Given the description of an element on the screen output the (x, y) to click on. 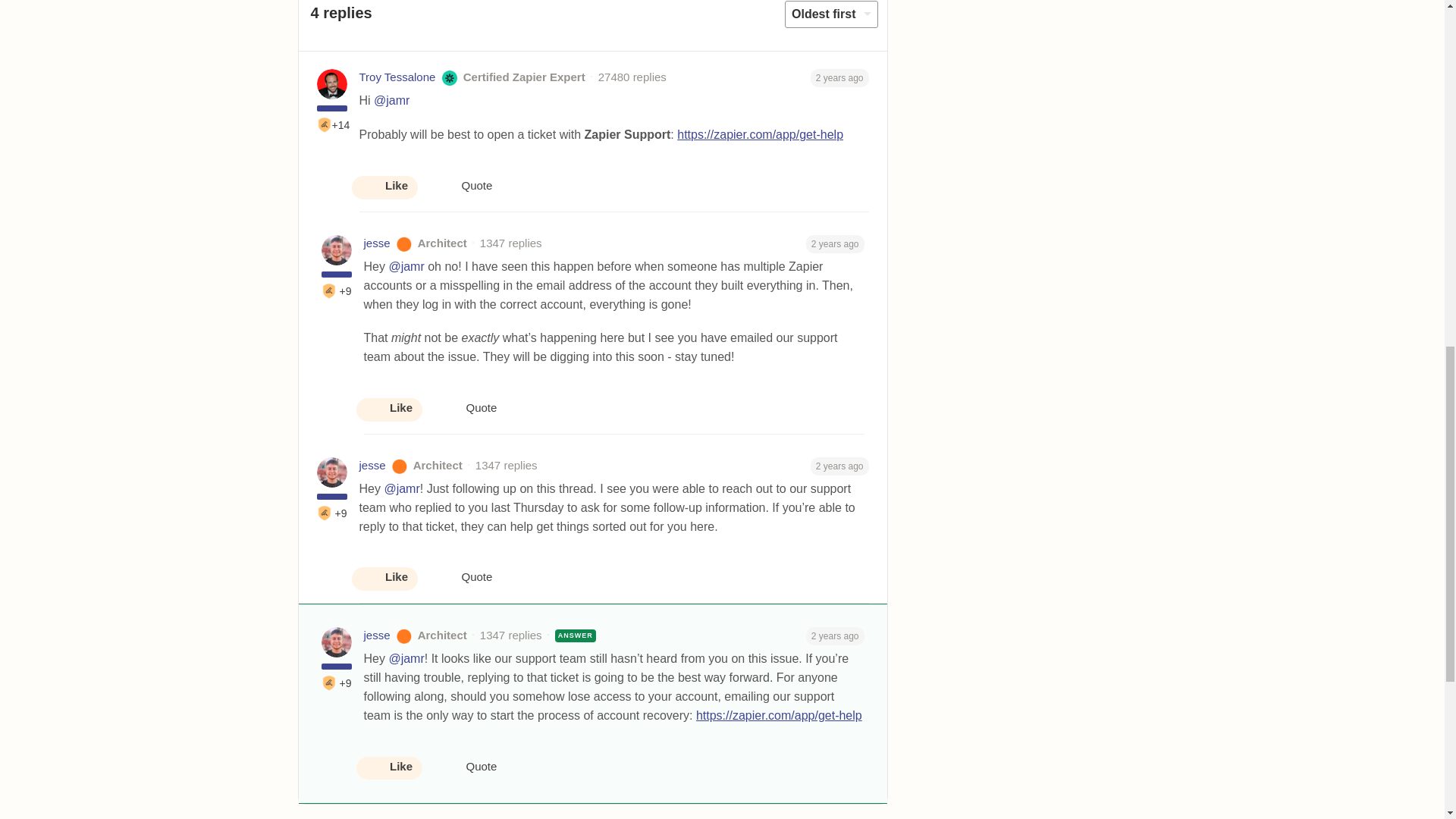
First Best Answer (328, 290)
jesse (372, 466)
jesse (377, 635)
Troy Tessalone (397, 77)
First Best Answer (324, 513)
jesse (377, 243)
First Best Answer (328, 683)
First Best Answer (324, 124)
